Given the description of an element on the screen output the (x, y) to click on. 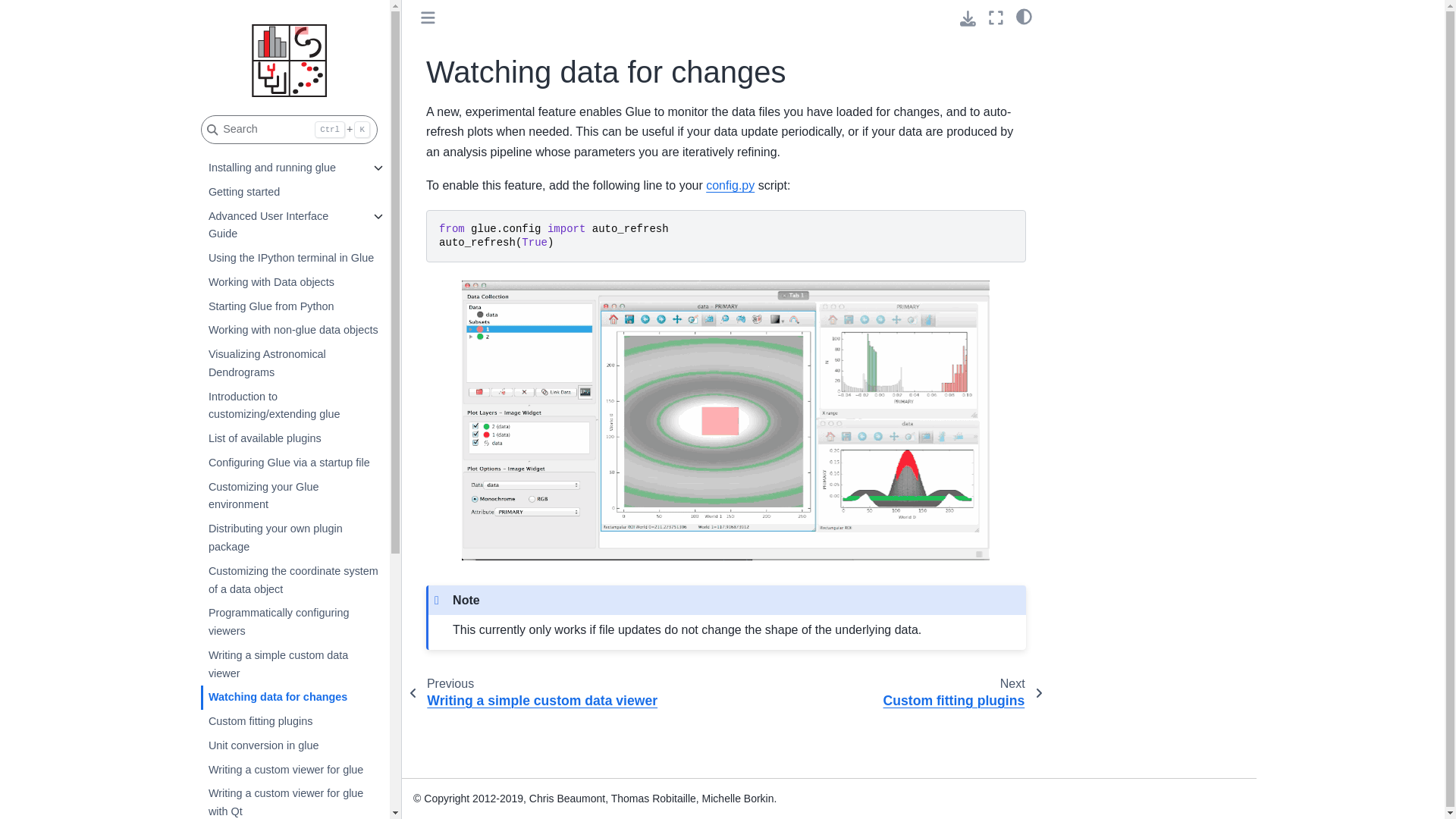
Advanced User Interface Guide (282, 225)
Configuring Glue via a startup file (293, 463)
Working with Data objects (293, 282)
Starting Glue from Python (293, 306)
Custom fitting plugins (293, 721)
Using the IPython terminal in Glue (293, 258)
Visualizing Astronomical Dendrograms (293, 363)
Writing a custom viewer for glue (293, 770)
Writing a simple custom data viewer (293, 664)
Programmatically configuring viewers (293, 622)
Getting started (293, 192)
Customizing your Glue environment (293, 496)
Watching data for changes (293, 697)
List of available plugins (293, 438)
Customizing the coordinate system of a data object (293, 580)
